Given the description of an element on the screen output the (x, y) to click on. 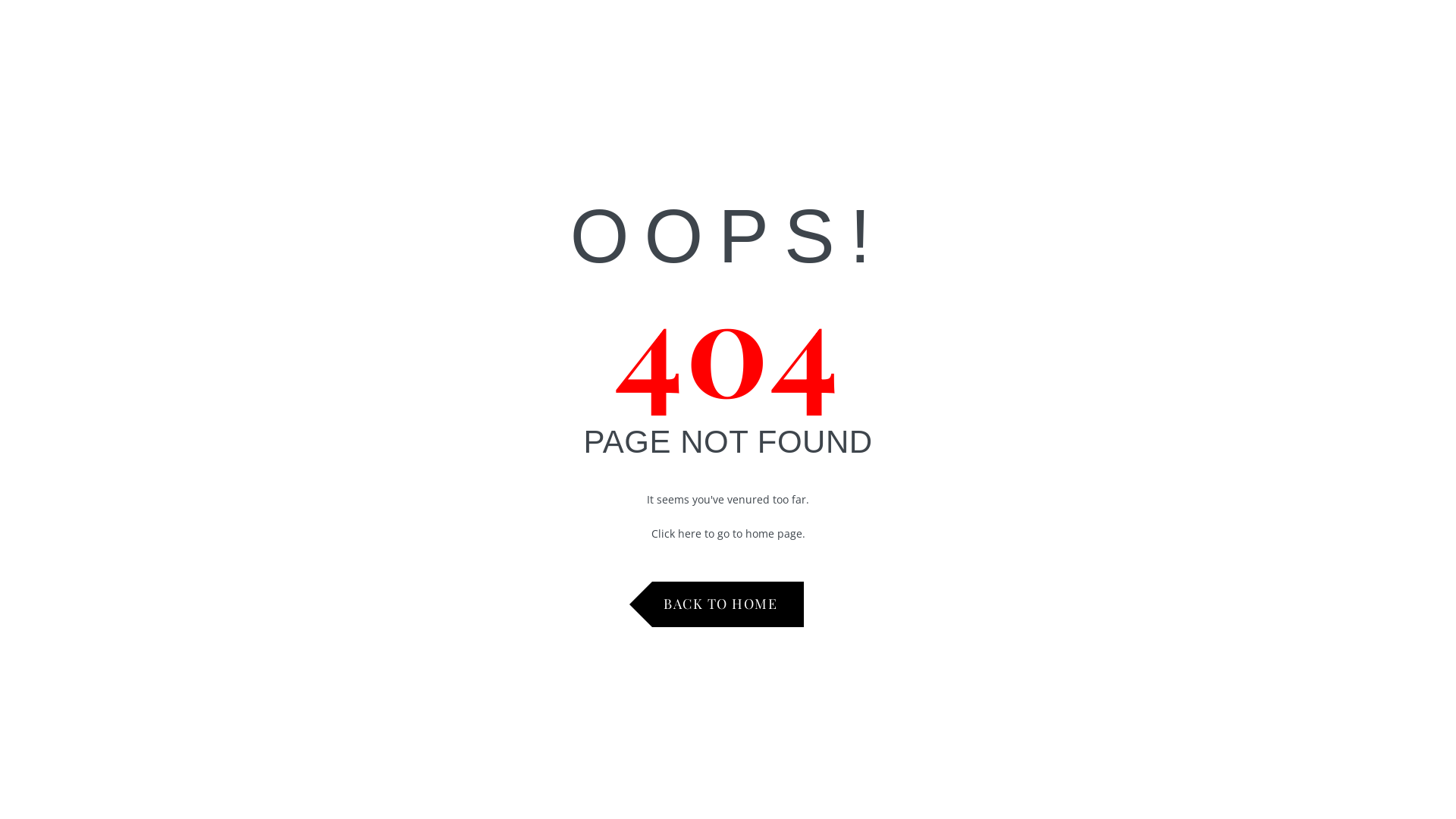
BACK TO HOME Element type: text (727, 603)
